Given the description of an element on the screen output the (x, y) to click on. 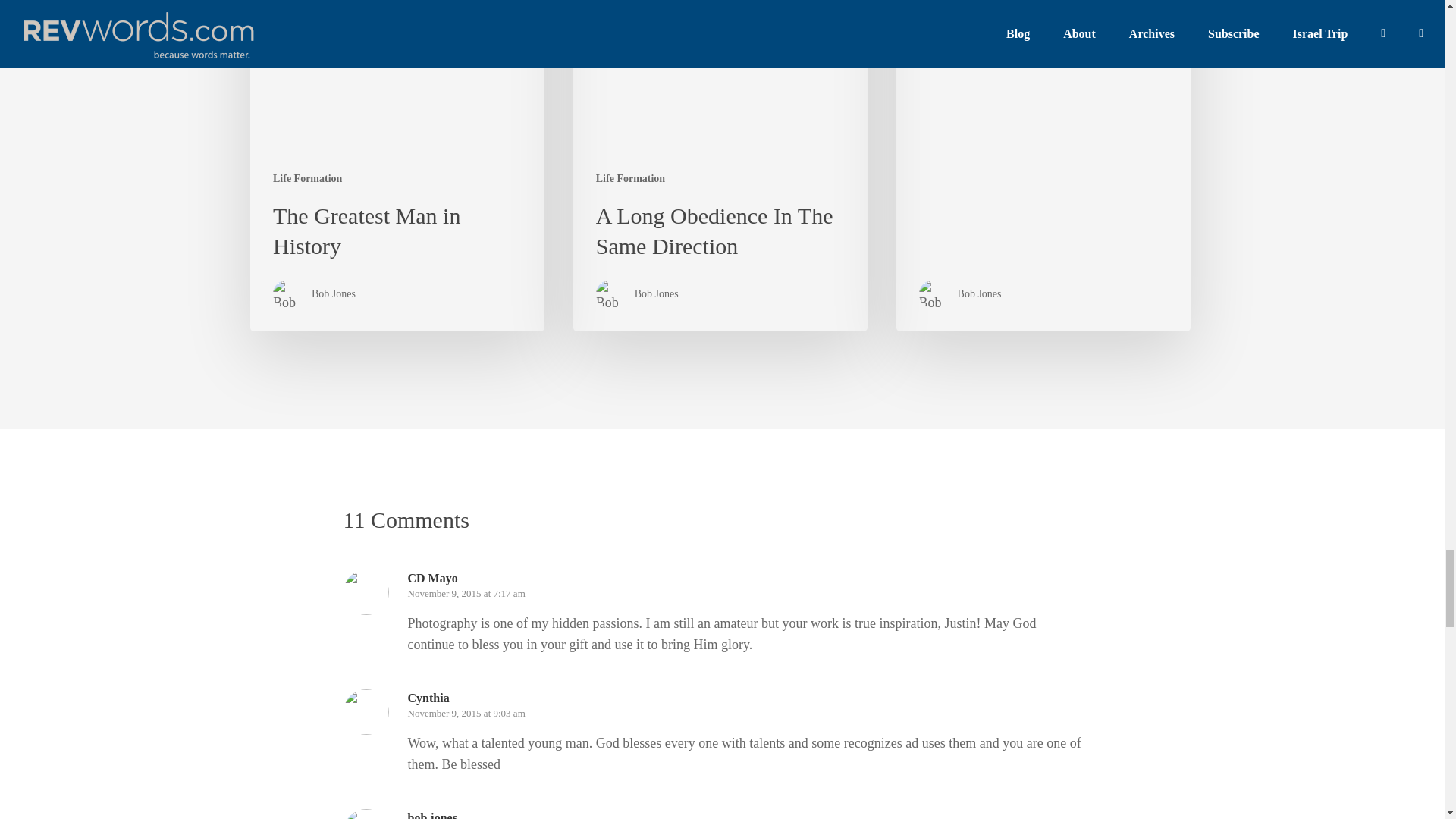
Bob Jones (656, 294)
Life Formation (630, 178)
Life Formation (307, 178)
Bob Jones (333, 294)
